Given the description of an element on the screen output the (x, y) to click on. 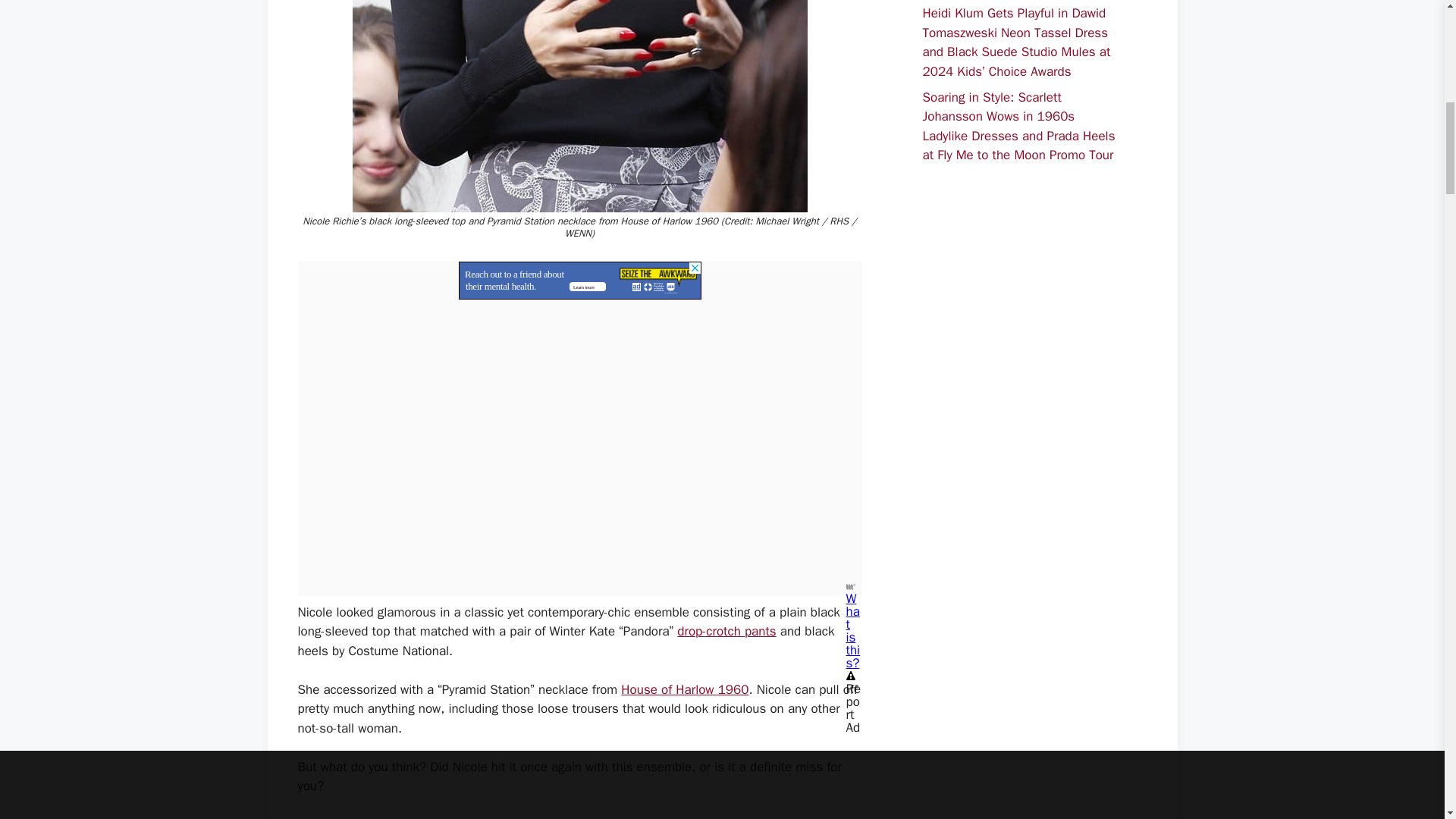
drop-crotch pants (726, 631)
3rd party ad content (1018, 380)
House of Harlow 1960 (684, 689)
3rd party ad content (579, 280)
Scroll back to top (1406, 636)
